Given the description of an element on the screen output the (x, y) to click on. 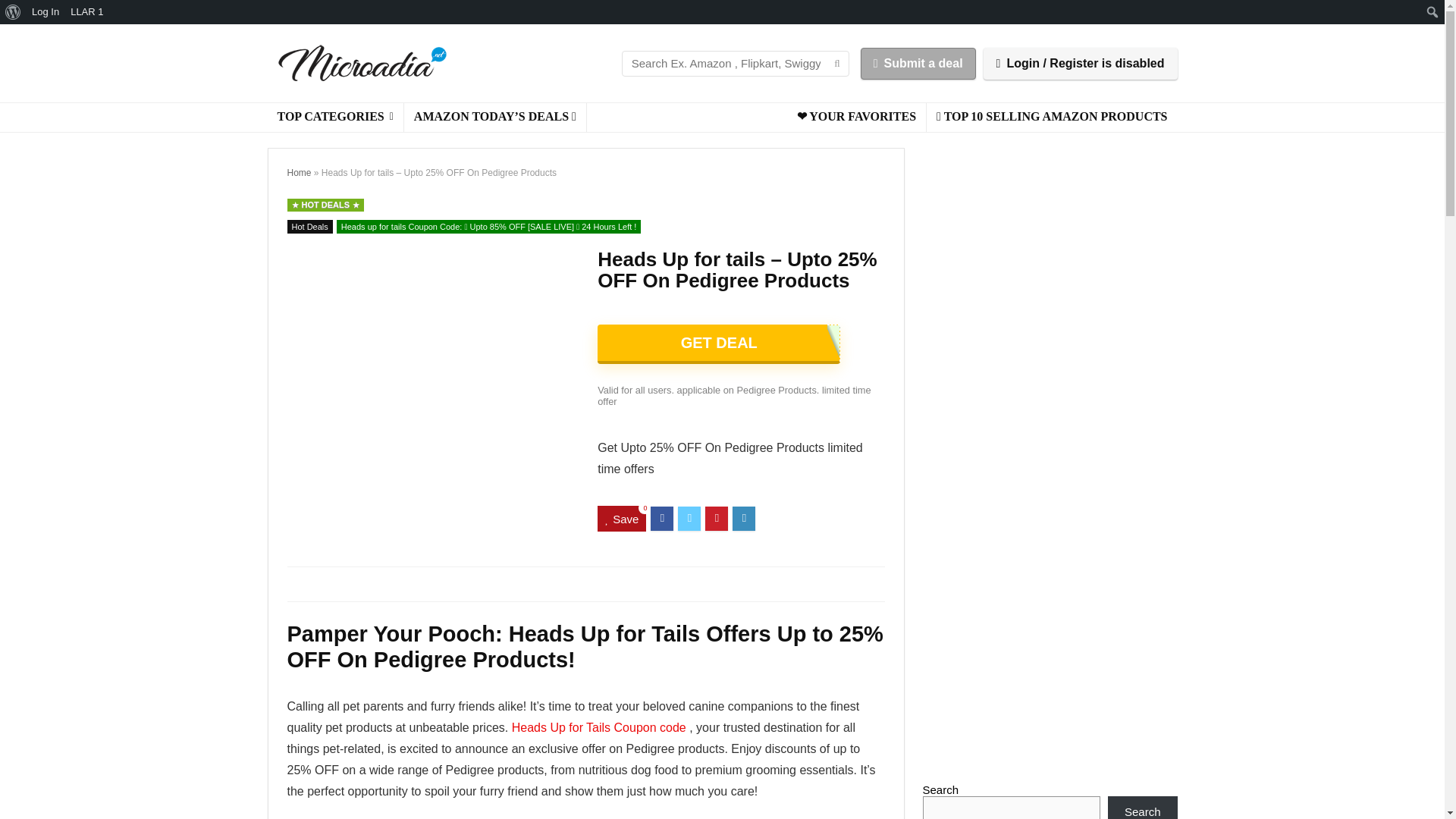
Log In (45, 12)
View all posts in Hot Deals (308, 226)
LLAR 1 (87, 12)
TOP CATEGORIES (334, 117)
Submit a deal (917, 62)
Search (15, 12)
